Given the description of an element on the screen output the (x, y) to click on. 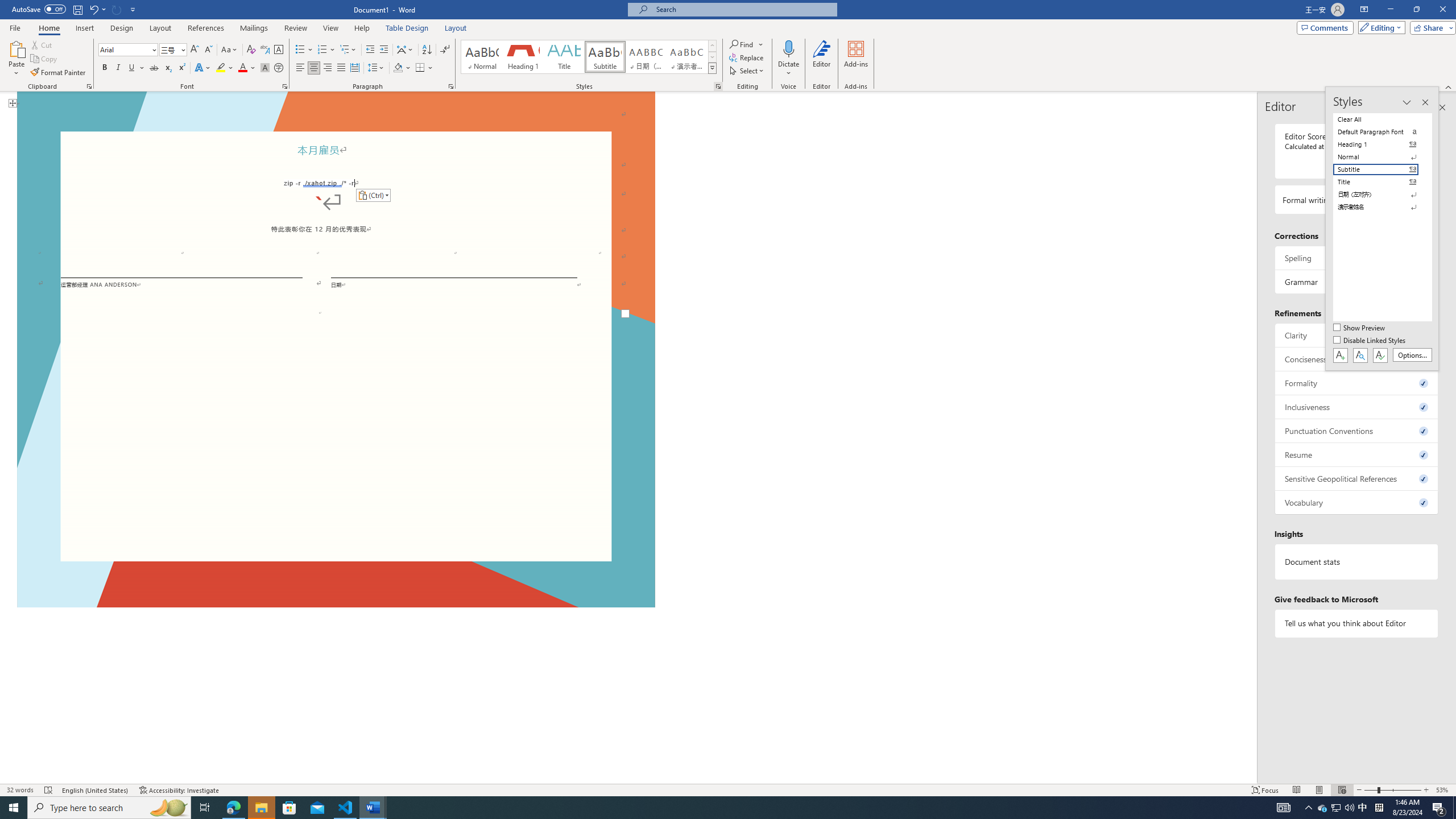
Clear All (1382, 119)
